Given the description of an element on the screen output the (x, y) to click on. 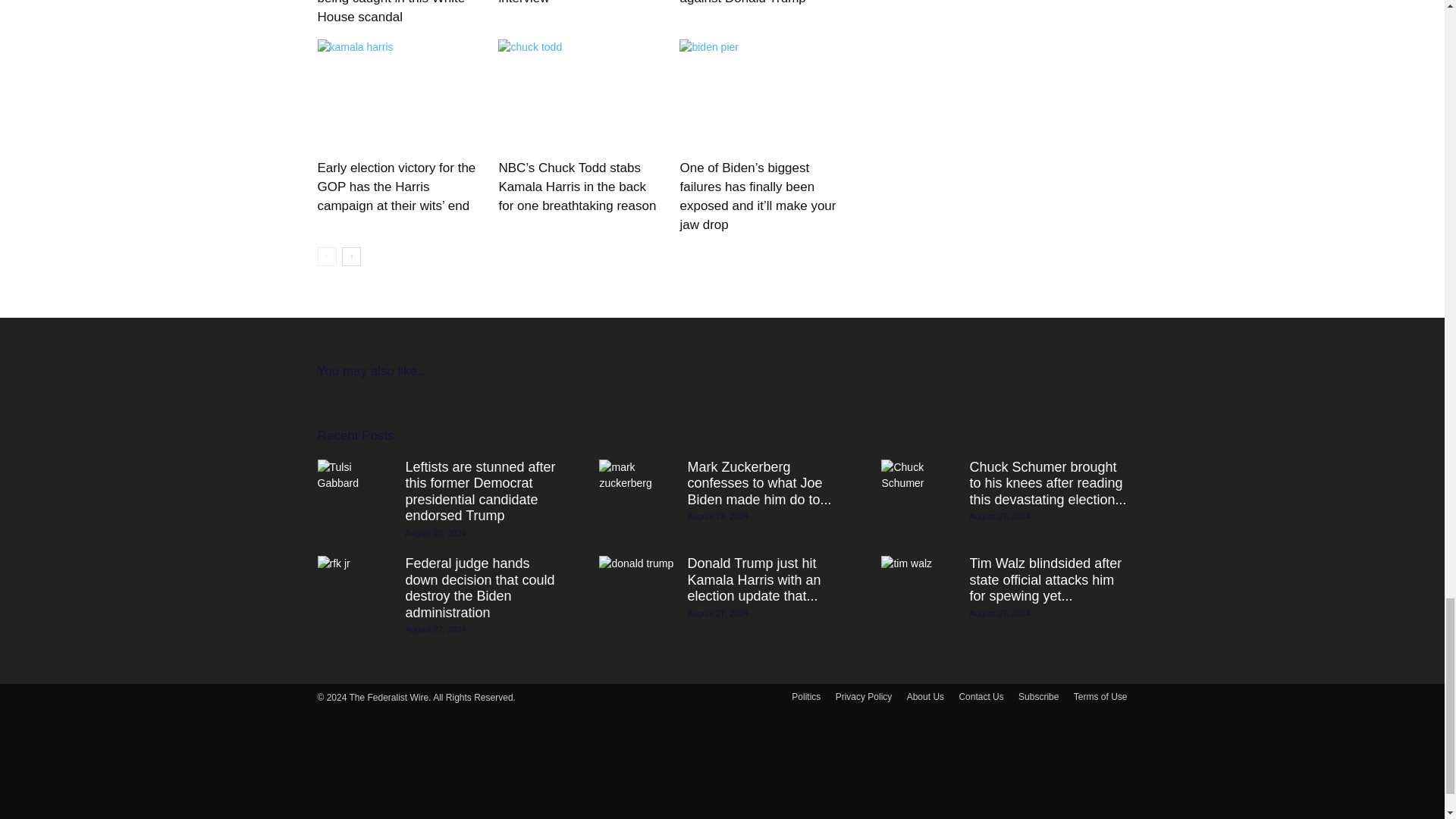
Tim Walz falls flat on his face during abysmal CNN interview (571, 2)
Tim Walz falls flat on his face during abysmal CNN interview (571, 2)
